Given the description of an element on the screen output the (x, y) to click on. 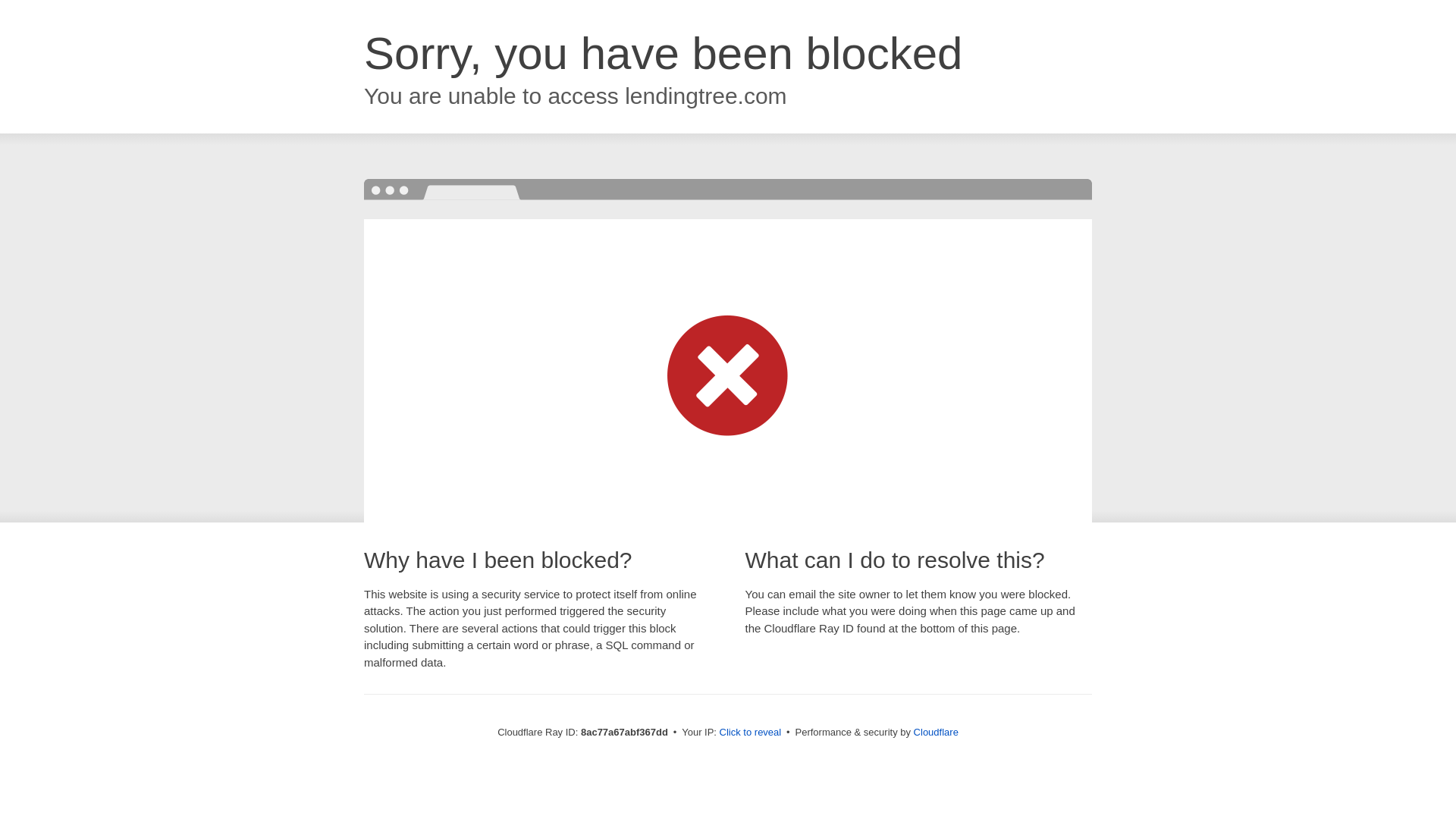
Cloudflare (936, 731)
Click to reveal (750, 732)
